Given the description of an element on the screen output the (x, y) to click on. 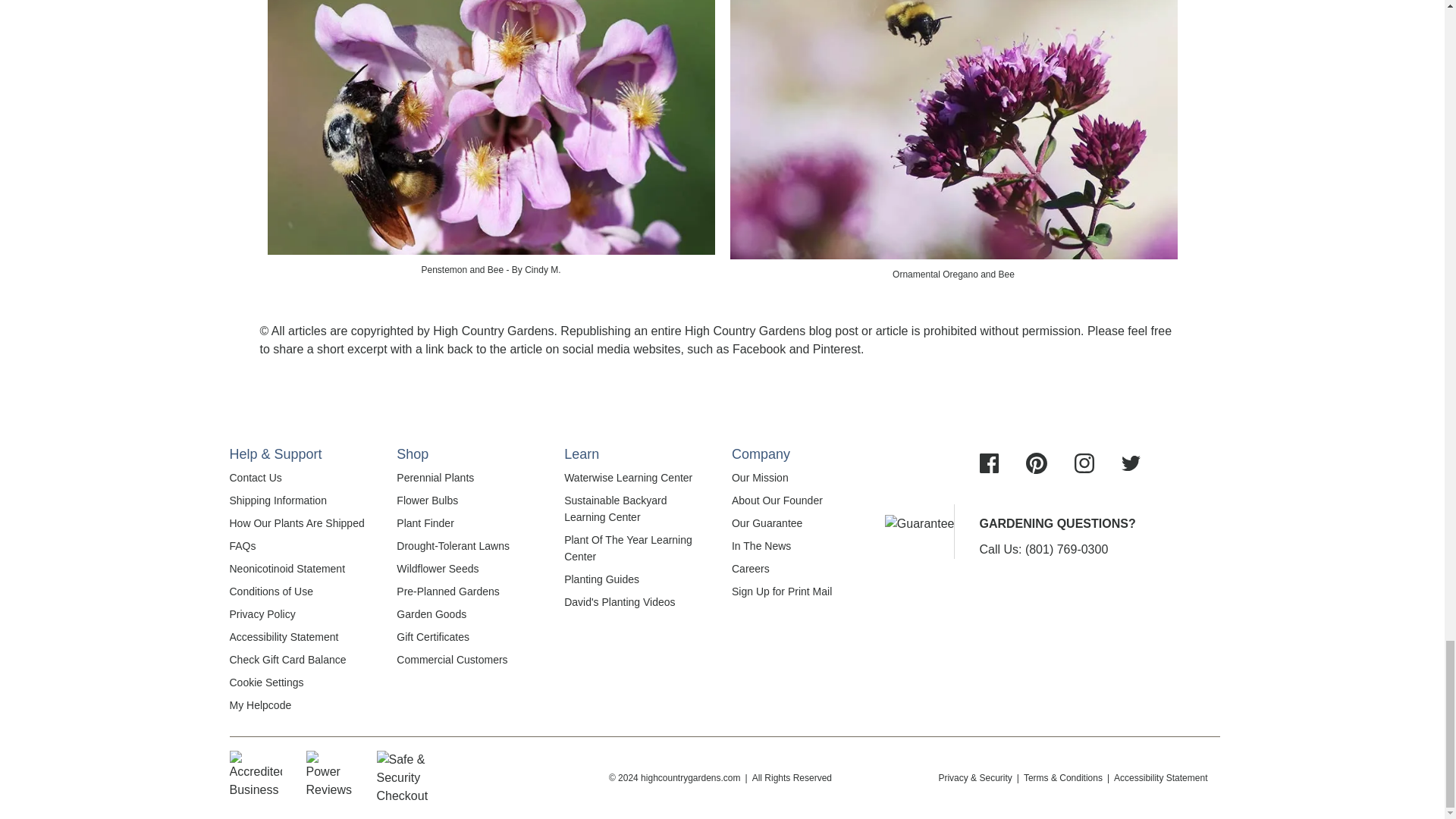
Facebook (988, 463)
Instagram (1084, 463)
Pinterest (1036, 463)
Twitter (1130, 462)
